Given the description of an element on the screen output the (x, y) to click on. 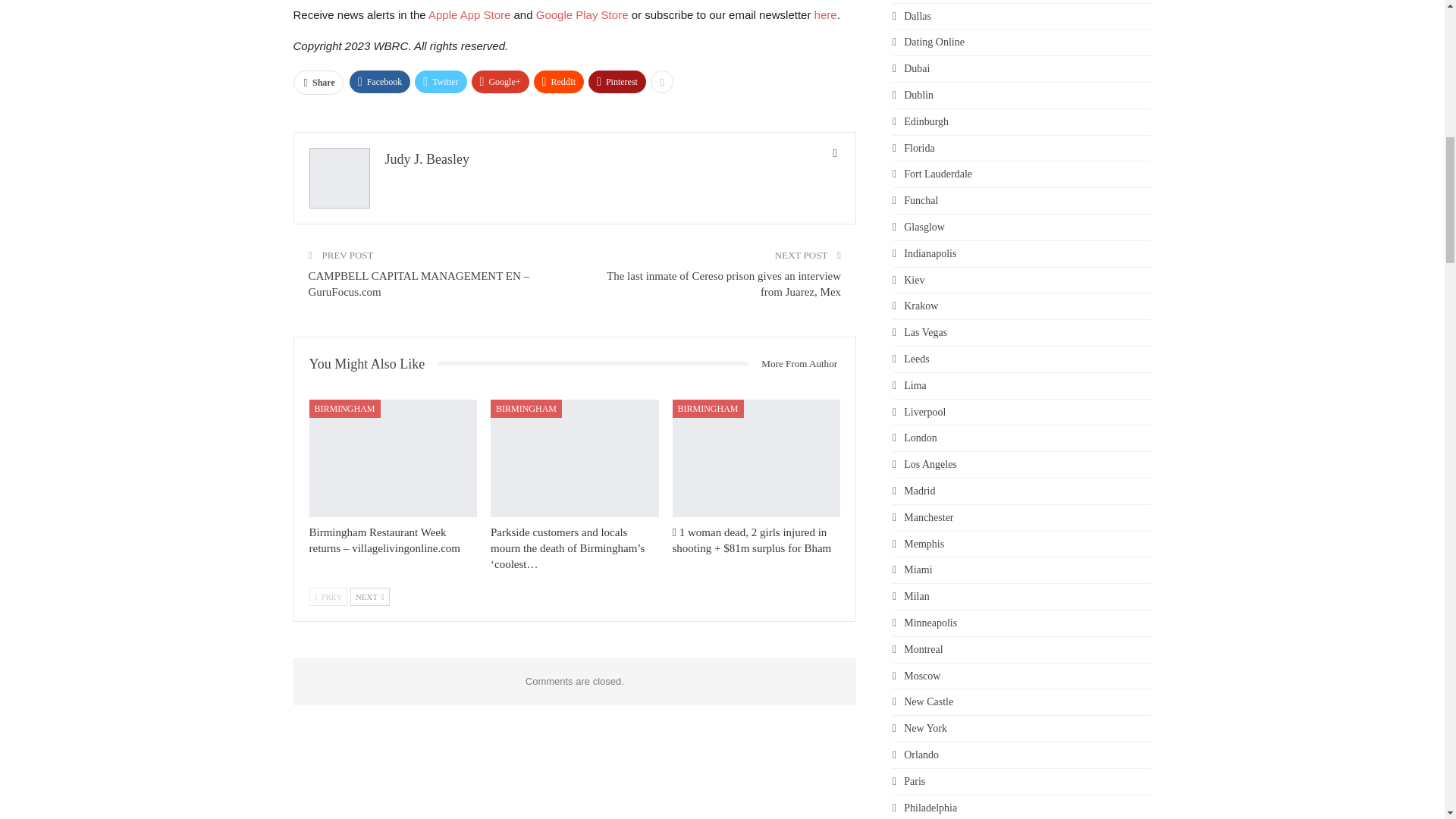
Next (370, 597)
BIRMINGHAM (344, 408)
Previous (327, 597)
More From Author (794, 363)
You Might Also Like (373, 364)
Pinterest (617, 81)
here (825, 14)
ReddIt (559, 81)
Apple App Store (469, 14)
